Given the description of an element on the screen output the (x, y) to click on. 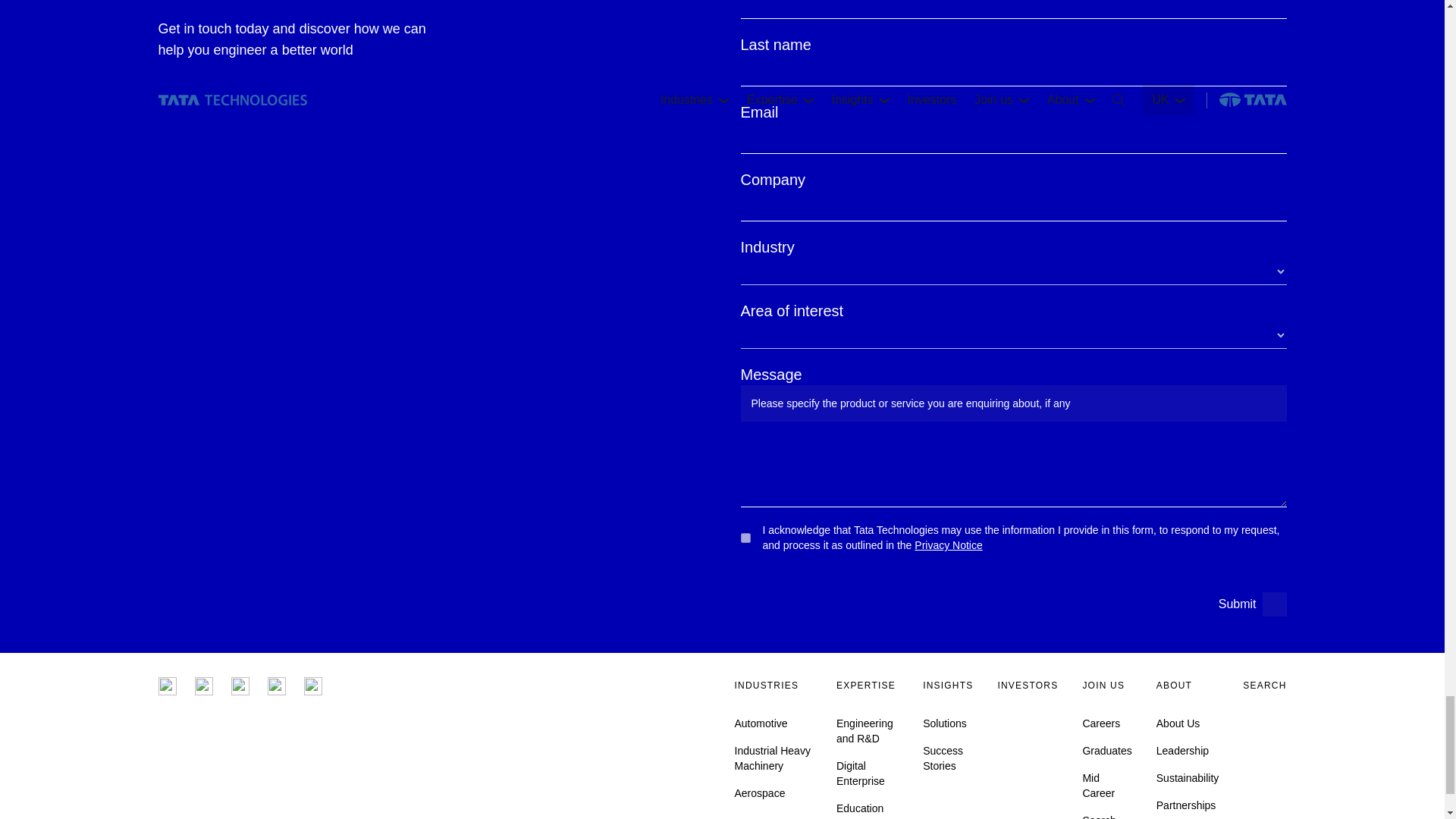
Yes (744, 537)
